Given the description of an element on the screen output the (x, y) to click on. 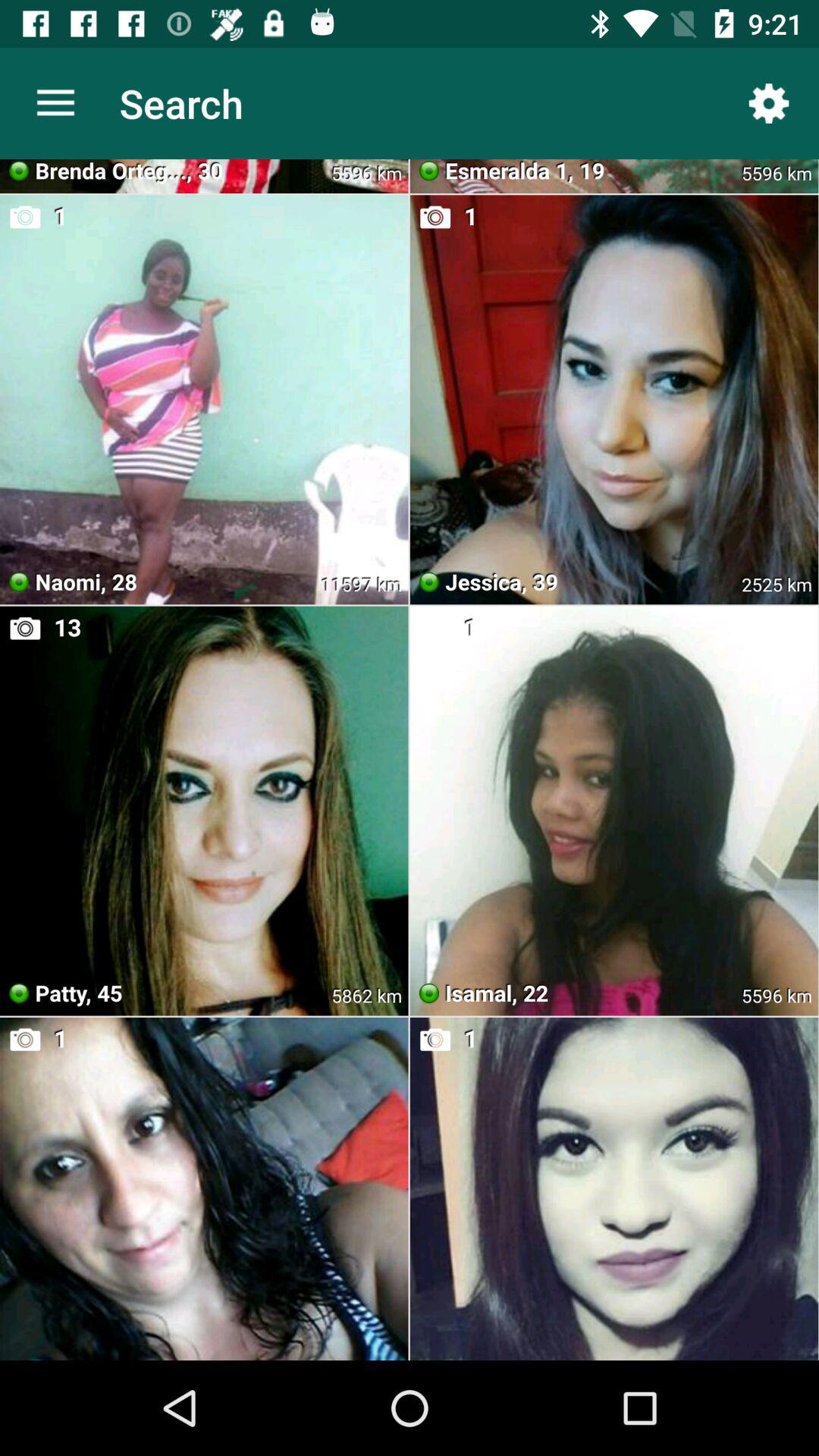
launch the icon next to the search app (55, 103)
